Given the description of an element on the screen output the (x, y) to click on. 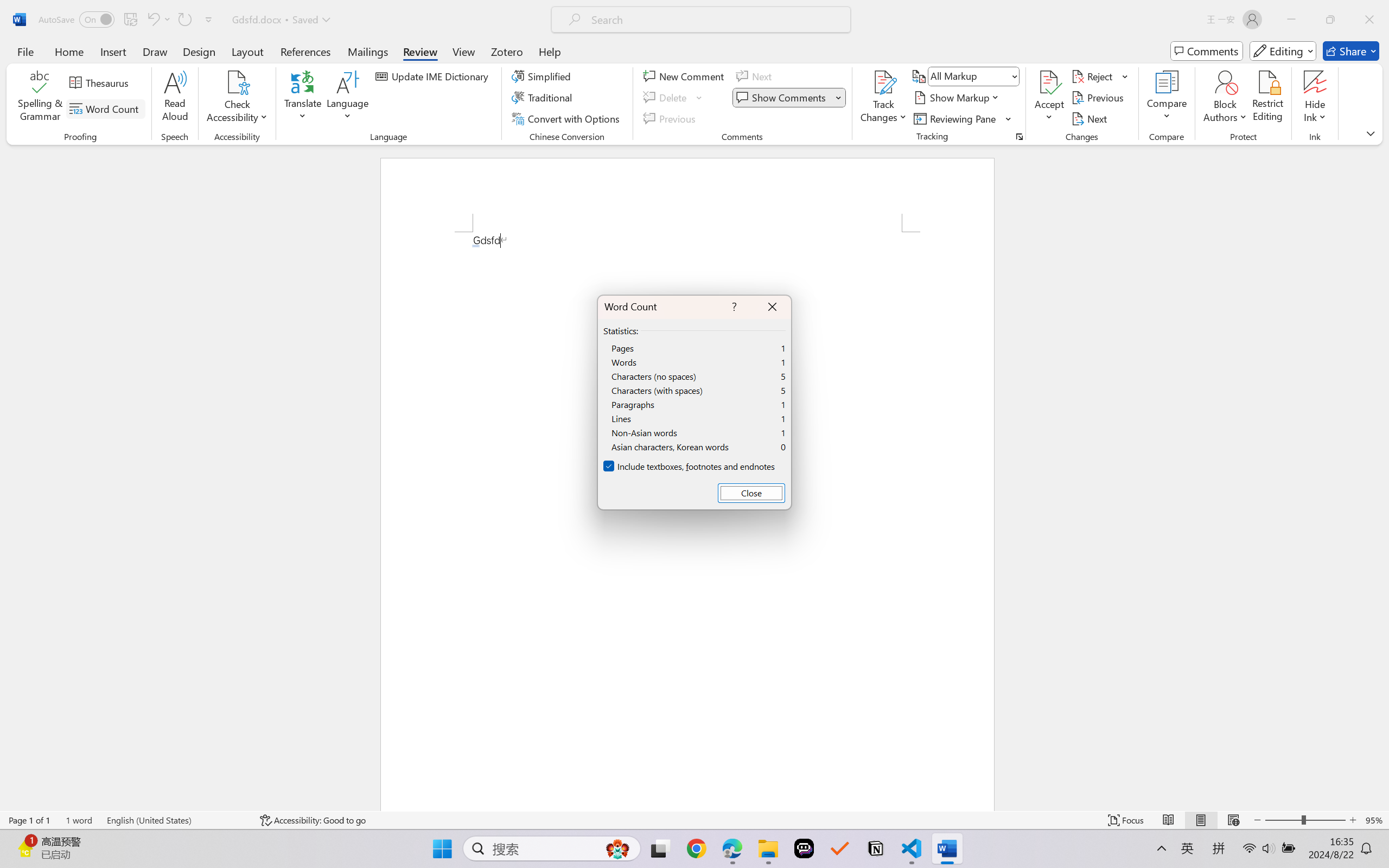
Simplified (542, 75)
Class: NetUIScrollBar (1382, 477)
Notion (875, 848)
Check Accessibility (237, 97)
Convert with Options... (567, 118)
Microsoft search (715, 19)
Hide Ink (1315, 81)
Display for Review (973, 75)
